Given the description of an element on the screen output the (x, y) to click on. 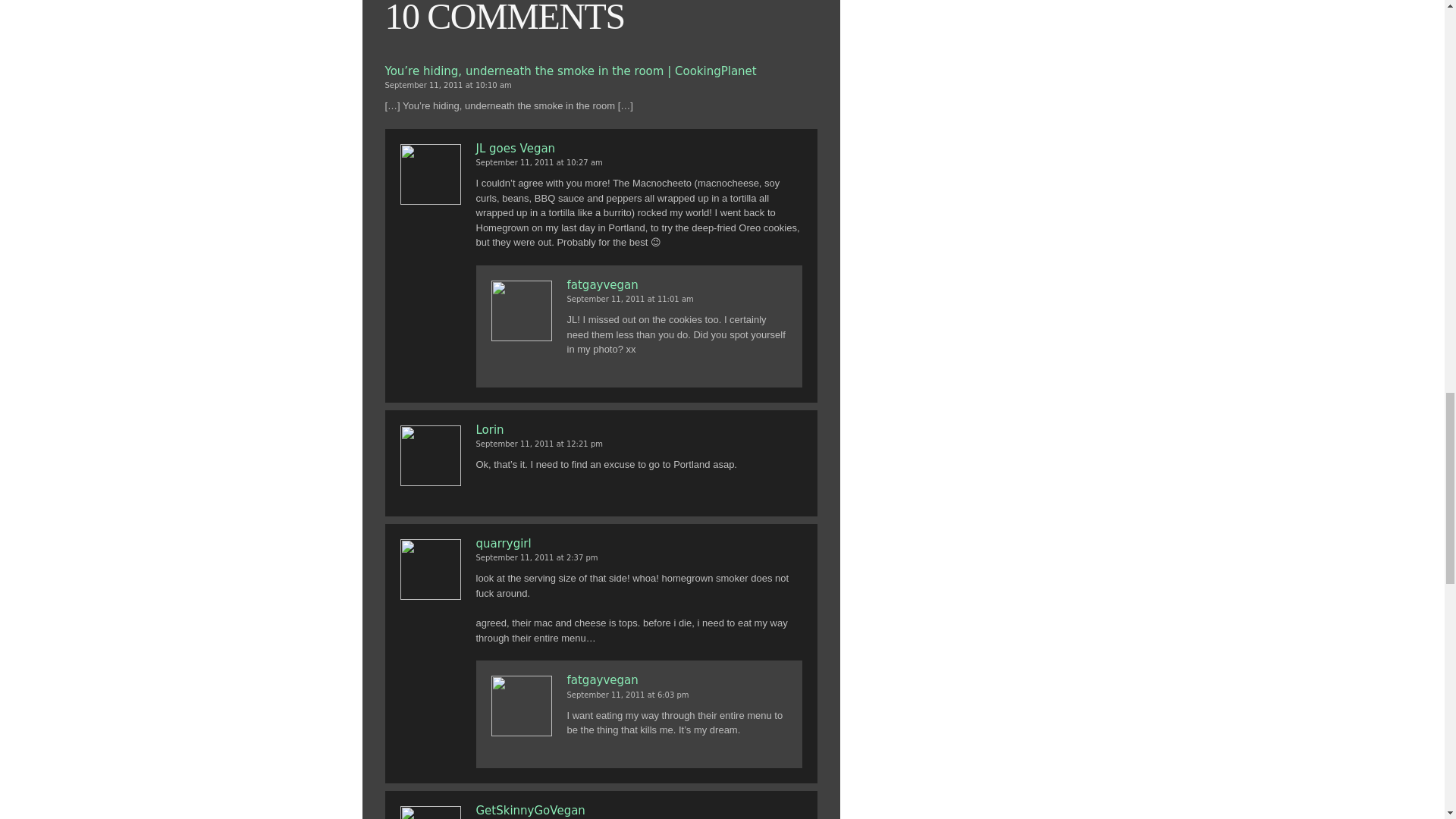
JL goes Vegan (639, 149)
